Given the description of an element on the screen output the (x, y) to click on. 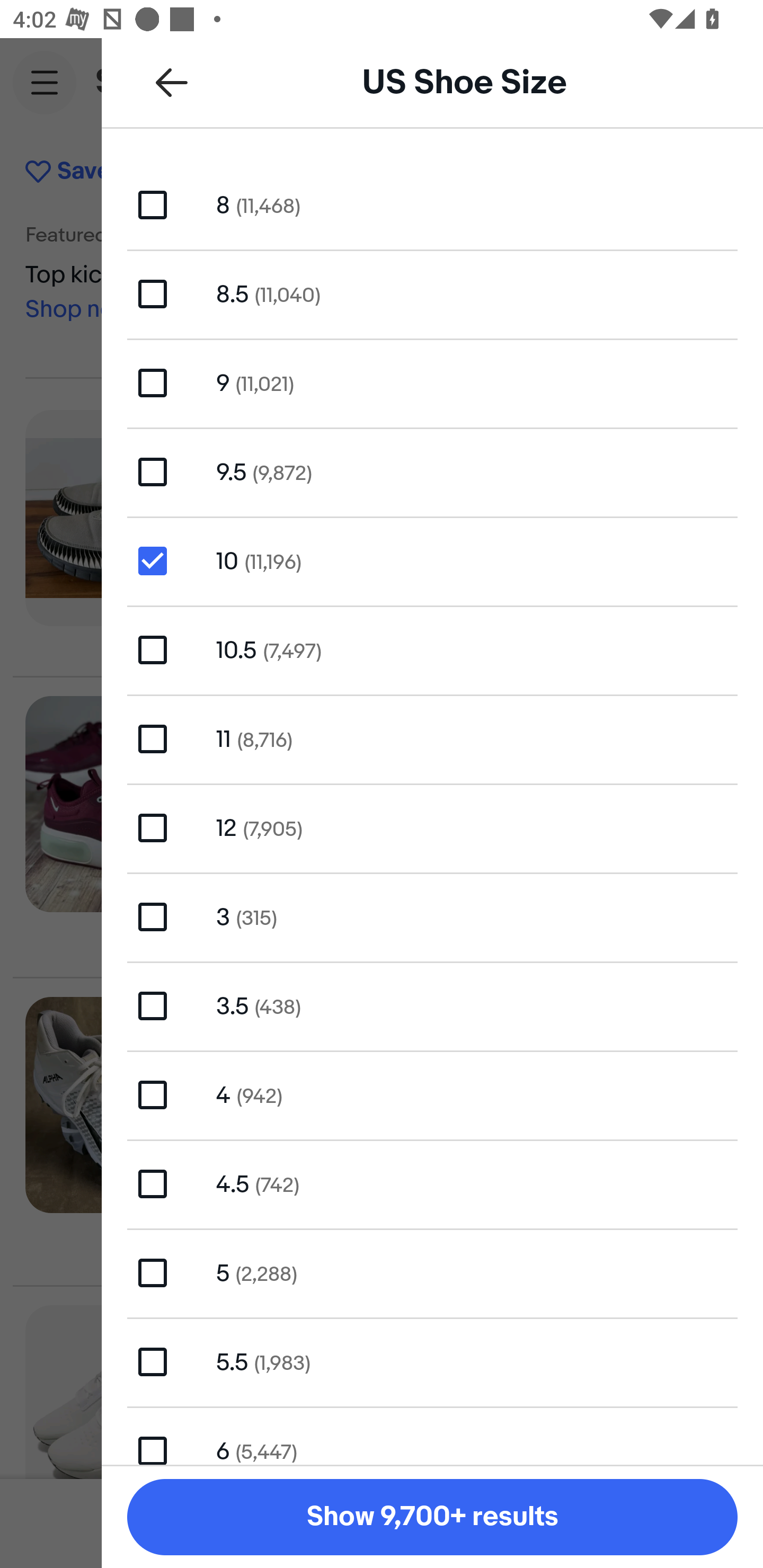
Back to all refinements (171, 81)
8 (11,468) (432, 204)
8.5 (11,040) (432, 293)
9 (11,021) (432, 383)
9.5 (9,872) (432, 471)
10 (11,196) (432, 560)
10.5 (7,497) (432, 649)
11 (8,716) (432, 739)
12 (7,905) (432, 827)
3 (315) (432, 916)
3.5 (438) (432, 1005)
4 (942) (432, 1094)
4.5 (742) (432, 1183)
5 (2,288) (432, 1272)
5.5 (1,983) (432, 1361)
6 (5,447) (432, 1435)
Show 9,700+ results (432, 1516)
